Given the description of an element on the screen output the (x, y) to click on. 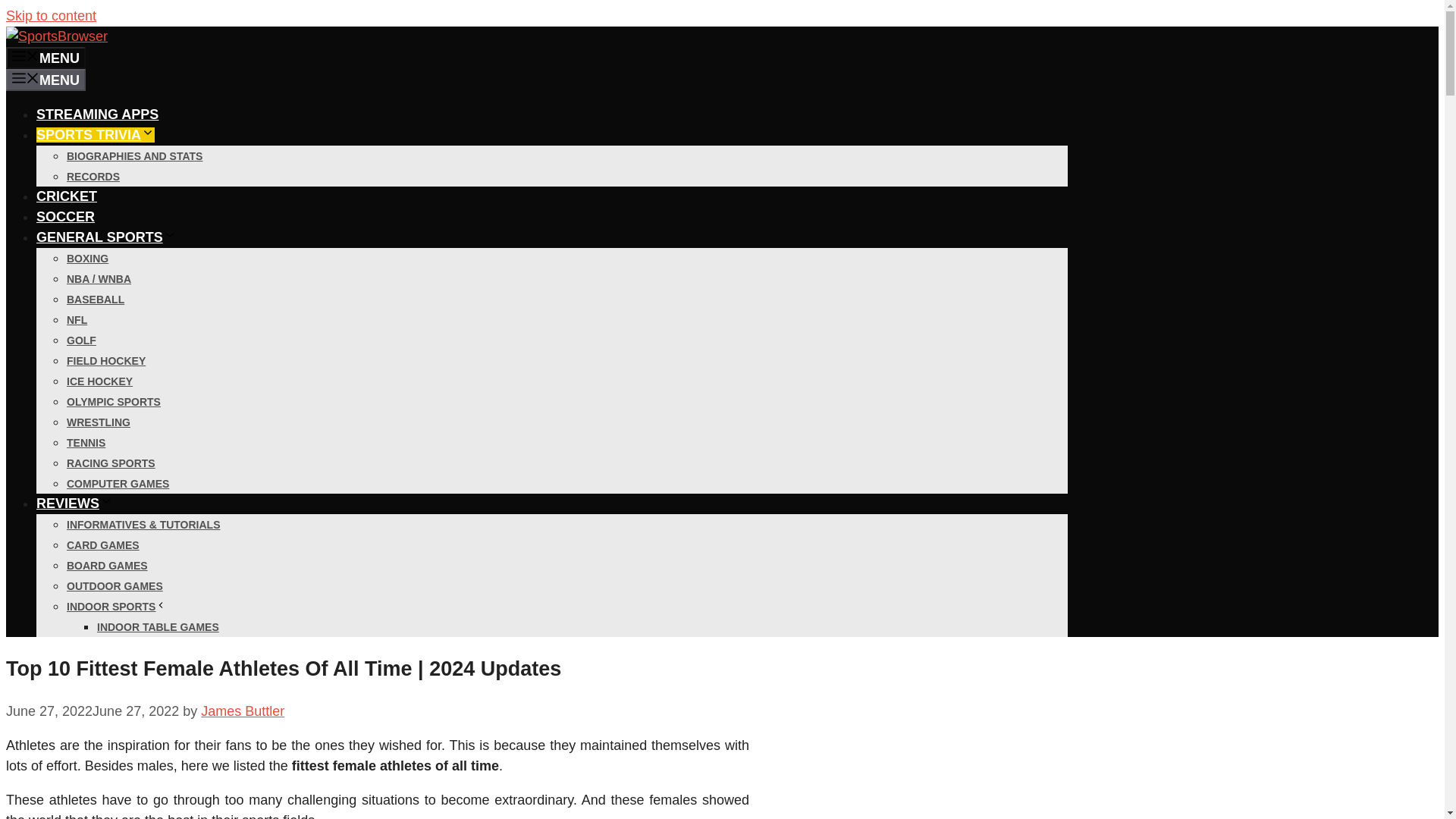
James Buttler (241, 711)
TENNIS (85, 442)
SPORTS TRIVIA (95, 134)
STREAMING APPS (97, 114)
REVIEWS (74, 503)
WRESTLING (98, 422)
GENERAL SPORTS (106, 237)
OUTDOOR GAMES (114, 585)
CRICKET (66, 196)
BOARD GAMES (107, 565)
RECORDS (92, 176)
MENU (45, 57)
OLYMPIC SPORTS (113, 401)
Skip to content (50, 15)
Skip to content (50, 15)
